Given the description of an element on the screen output the (x, y) to click on. 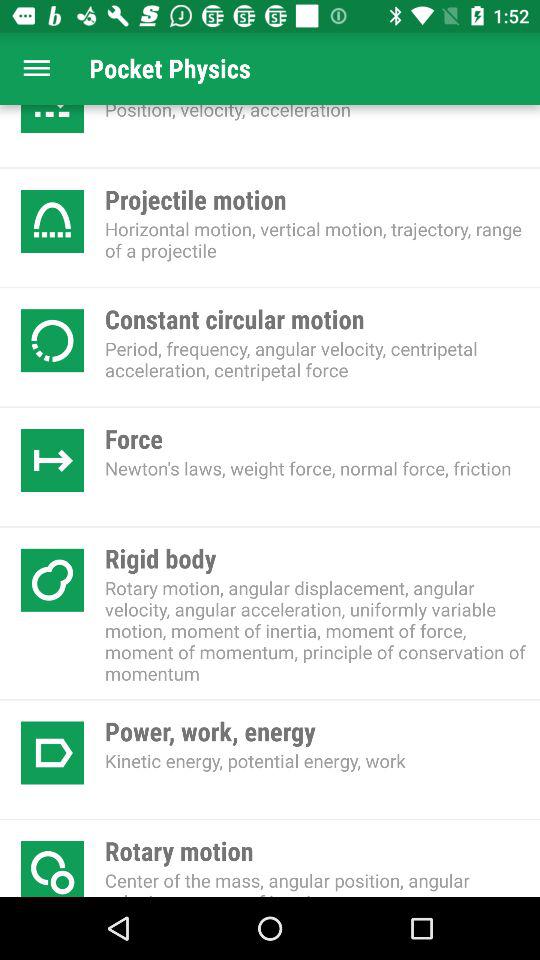
tap the app to the left of pocket physics app (36, 68)
